Given the description of an element on the screen output the (x, y) to click on. 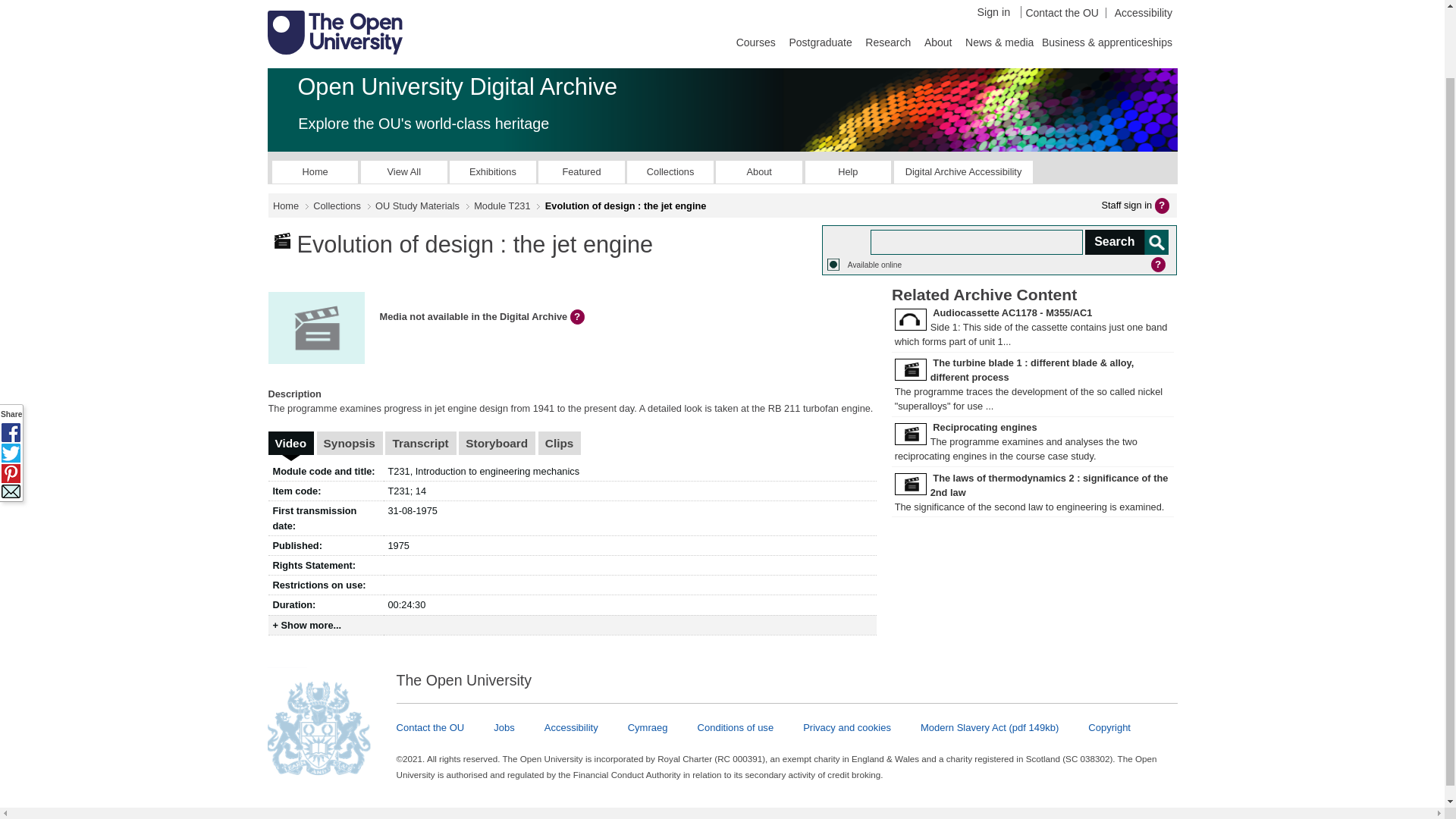
share this via email (10, 413)
help with signing in (1163, 204)
Search (1125, 242)
Exhibitions at OU Digital Archive (492, 171)
View All (403, 171)
View 1 video record (290, 443)
opens in a new window (963, 171)
Research (887, 41)
Collections (670, 171)
Accessibility (1138, 12)
Home (315, 171)
contextual help (579, 316)
Help (848, 171)
Postgraduate (820, 41)
About OUDL (759, 171)
